Given the description of an element on the screen output the (x, y) to click on. 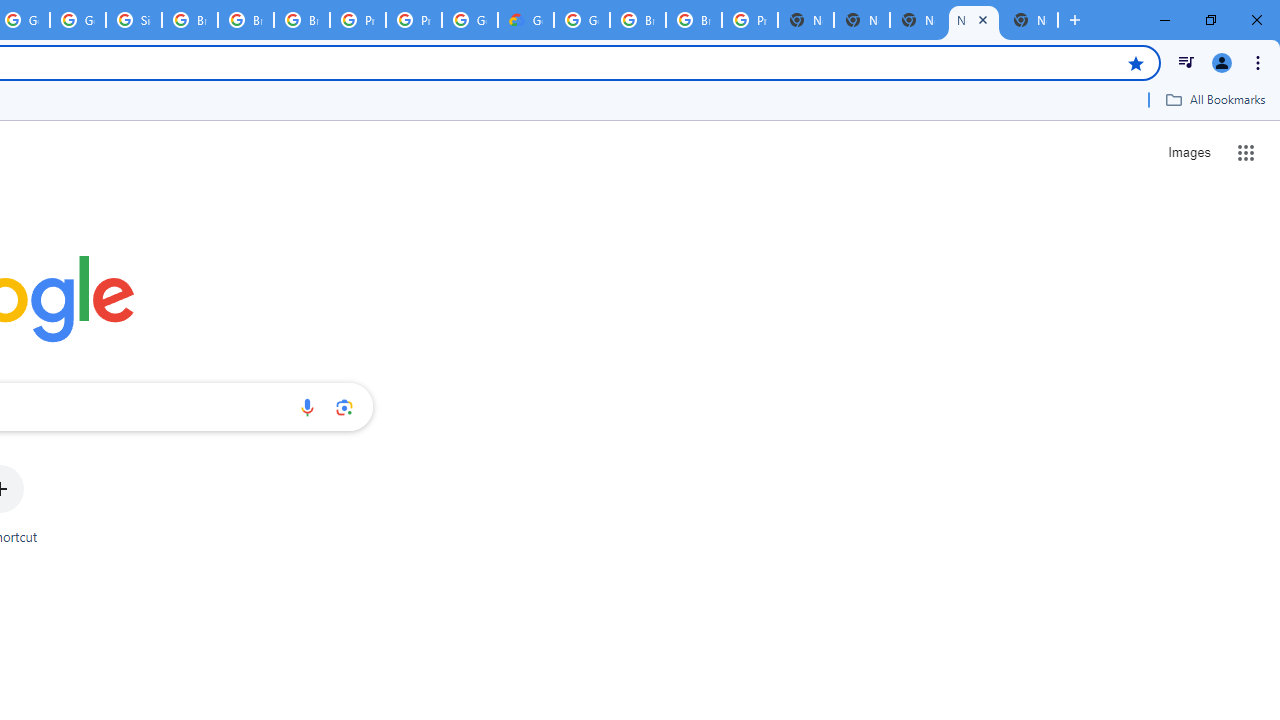
Google Cloud Estimate Summary (525, 20)
Browse Chrome as a guest - Computer - Google Chrome Help (637, 20)
Google Cloud Platform (469, 20)
Sign in - Google Accounts (134, 20)
Search by image (344, 407)
Browse Chrome as a guest - Computer - Google Chrome Help (693, 20)
Search by voice (307, 407)
All Bookmarks (1215, 99)
Browse Chrome as a guest - Computer - Google Chrome Help (245, 20)
